Given the description of an element on the screen output the (x, y) to click on. 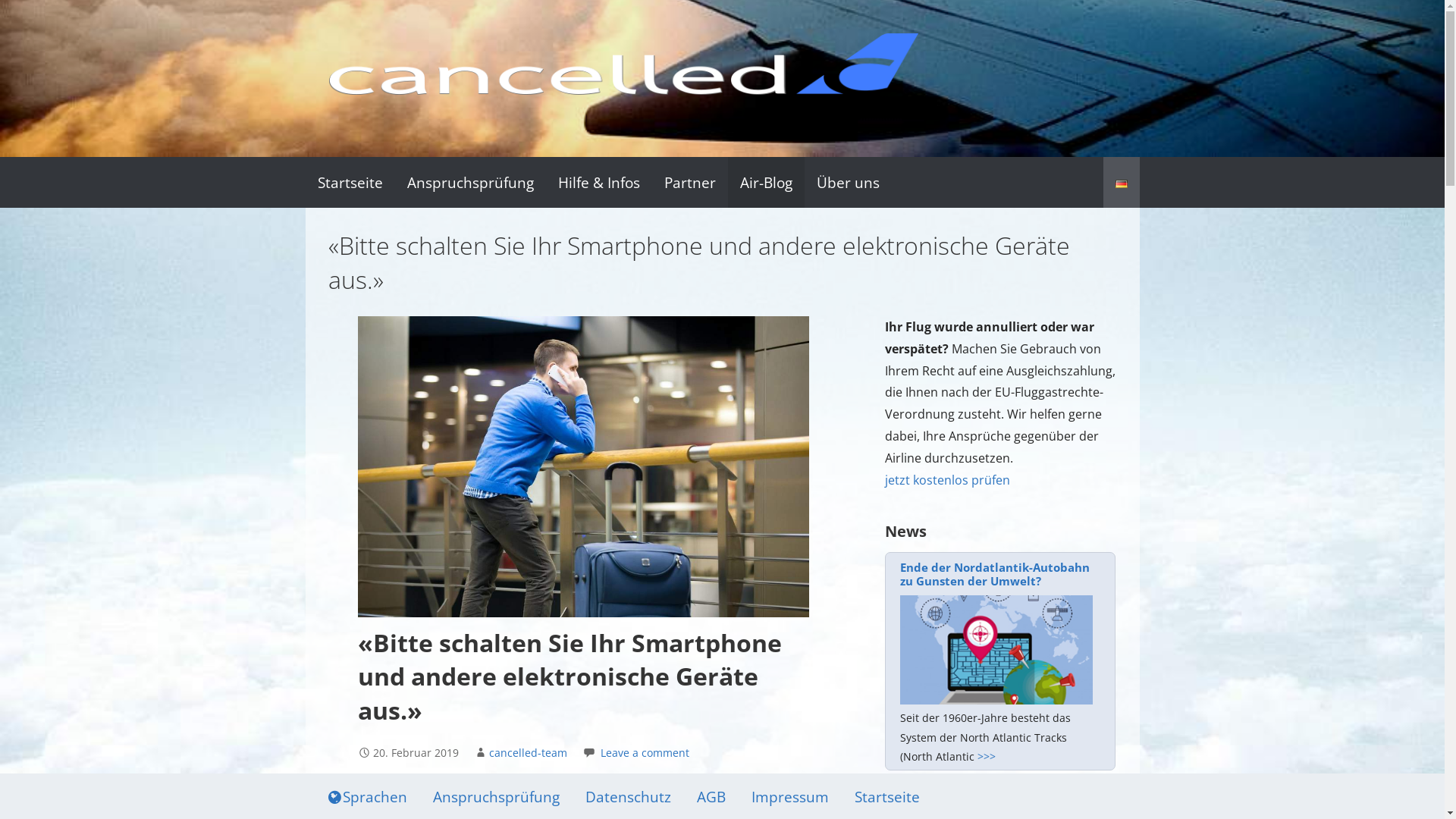
Air-Blog Element type: text (766, 181)
Leave a comment Element type: text (644, 752)
Hilfe & Infos Element type: text (599, 181)
Startseite Element type: text (886, 796)
>>> Element type: text (986, 755)
Partner Element type: text (690, 181)
Ende der Nordatlantik-Autobahn zu Gunsten der Umwelt? Element type: text (1000, 573)
cancelled-team Element type: text (528, 752)
Impressum Element type: text (789, 796)
Ende der Nordatlantik-Autobahn zu Gunsten der Umwelt? Element type: hover (996, 649)
Datenschutz Element type: text (628, 796)
AGB Element type: text (710, 796)
Sprachen Element type: text (367, 796)
Startseite Element type: text (349, 181)
